Given the description of an element on the screen output the (x, y) to click on. 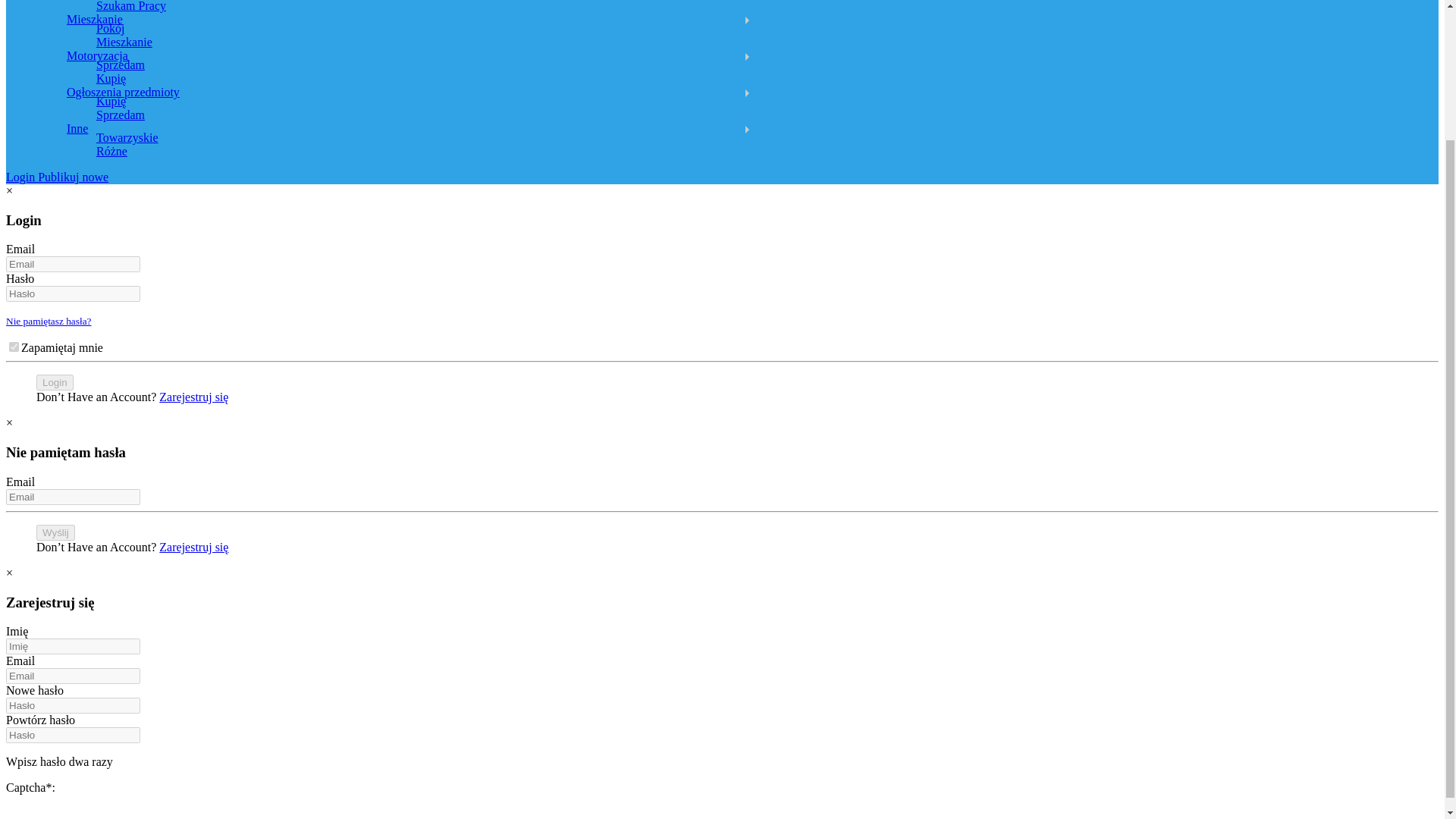
Sprzedam (120, 114)
Towarzyskie (127, 137)
inne (76, 128)
english (97, 55)
Sprzedam (120, 114)
Login (21, 176)
Publikuj nowe (72, 176)
on (13, 347)
Szukam Pracy (130, 6)
ogloszenia-rozne-przedmioty (122, 91)
